Given the description of an element on the screen output the (x, y) to click on. 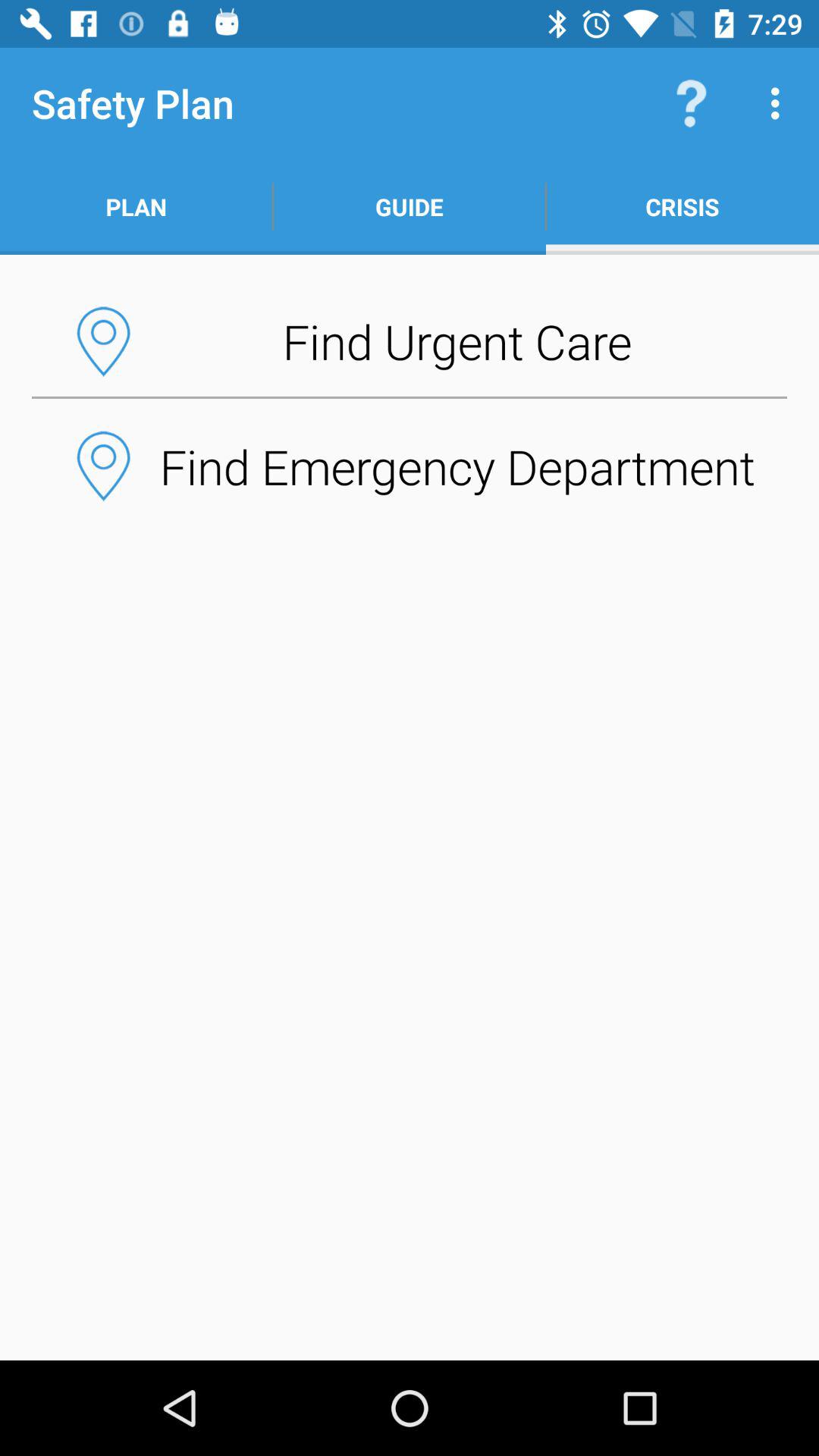
turn off app next to guide item (691, 103)
